Given the description of an element on the screen output the (x, y) to click on. 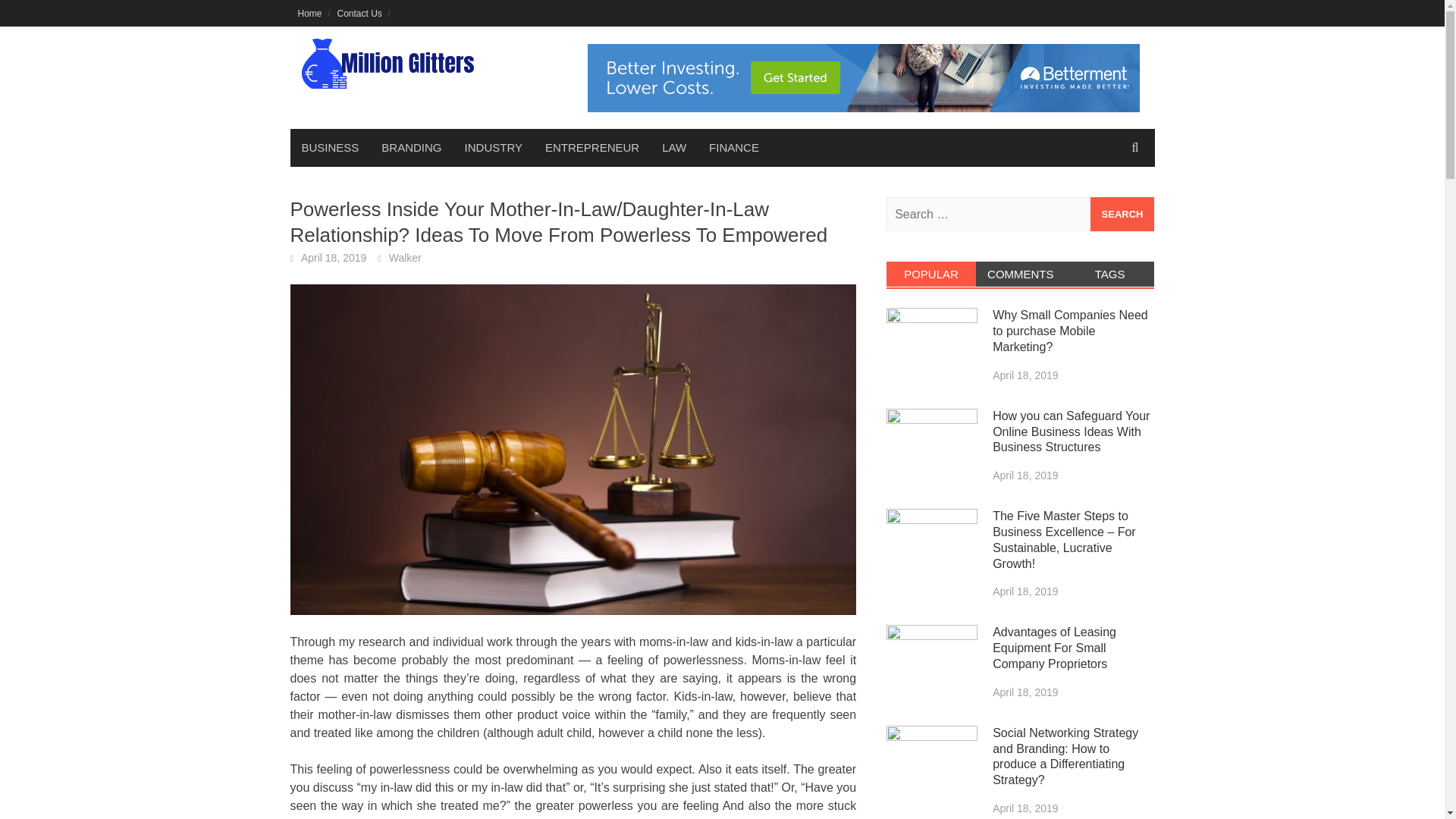
Home (309, 13)
Contact Us (360, 13)
COMMENTS (1020, 273)
Walker (405, 257)
BUSINESS (329, 147)
Why Small Companies Need to purchase Mobile Marketing? (1070, 330)
ENTREPRENEUR (592, 147)
Search (1122, 213)
